Given the description of an element on the screen output the (x, y) to click on. 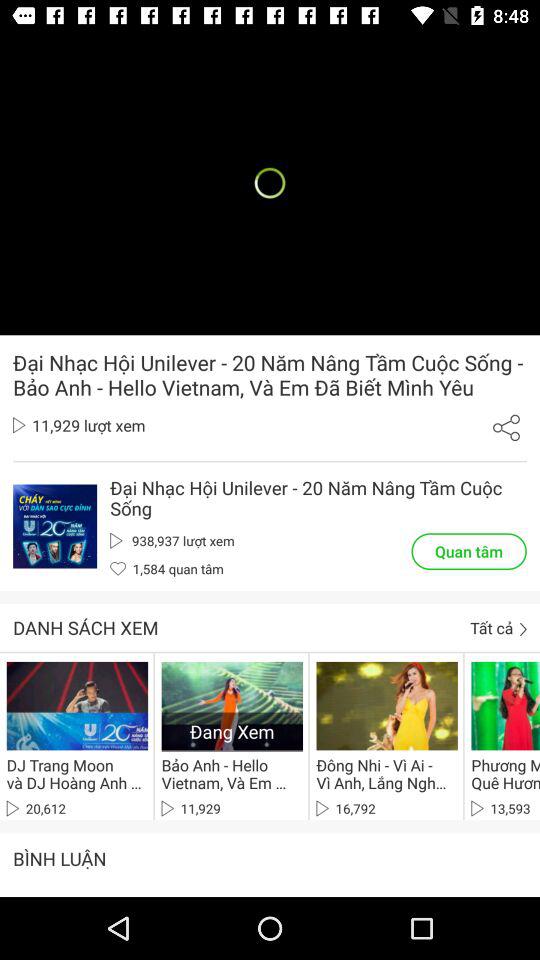
click on the button next to tat ca (523, 629)
click on the second image from the bottom left (386, 705)
click on first video at the bottom from left side (77, 705)
select the image on left to the love icon on the web page (54, 526)
click on the second left image under danh sach xem (232, 705)
click on the button which is next to the 11929 lurot xem (506, 428)
